Given the description of an element on the screen output the (x, y) to click on. 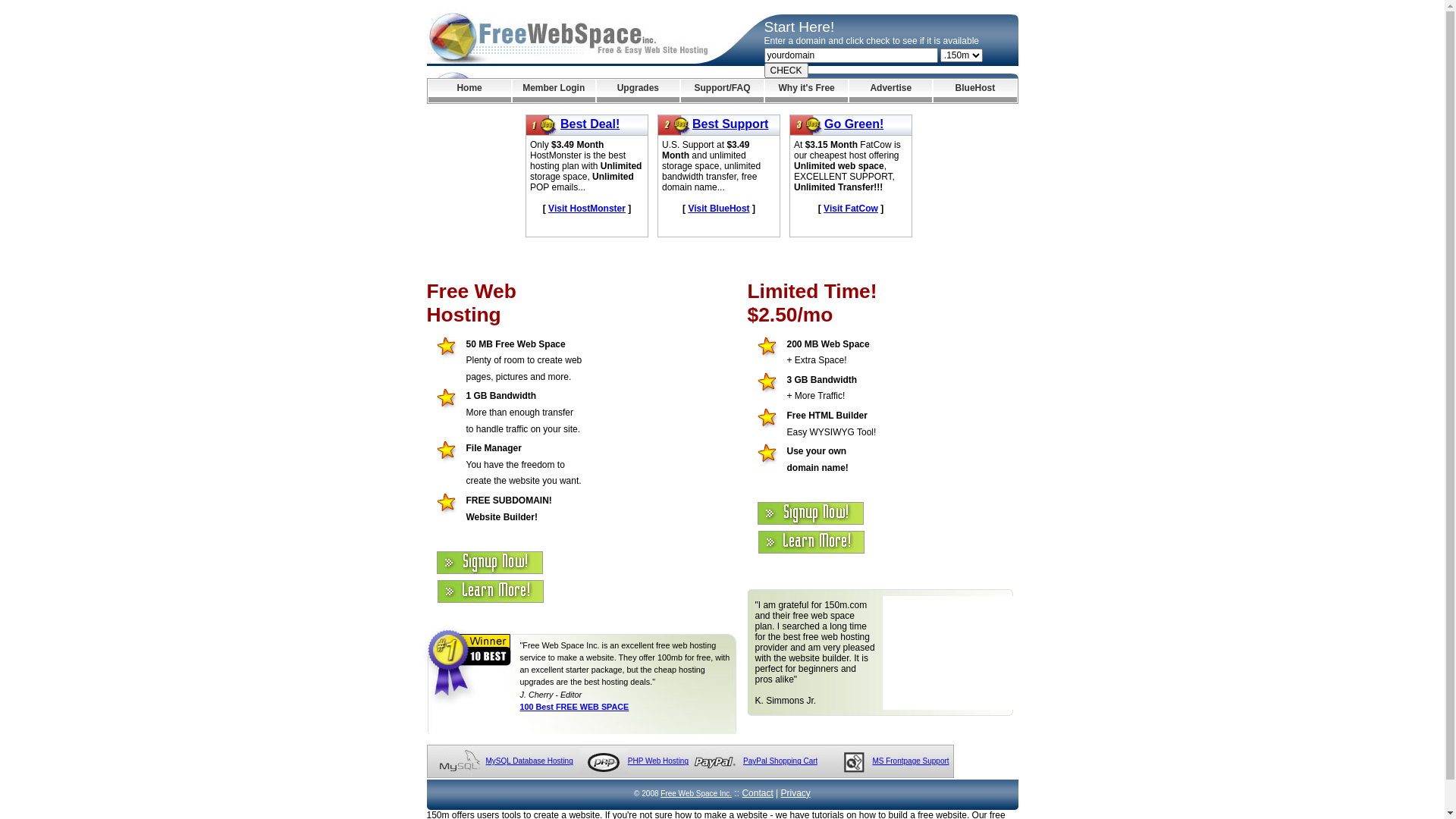
Home Element type: text (468, 90)
CHECK Element type: text (786, 70)
Contact Element type: text (756, 792)
100 Best FREE WEB SPACE Element type: text (574, 706)
Support/FAQ Element type: text (721, 90)
MS Frontpage Support Element type: text (910, 760)
Upgrades Element type: text (637, 90)
PayPal Shopping Cart Element type: text (780, 760)
Privacy Element type: text (795, 792)
Free Web Space Inc. Element type: text (695, 793)
BlueHost Element type: text (974, 90)
Why it's Free Element type: text (806, 90)
PHP Web Hosting Element type: text (657, 760)
Advertise Element type: text (890, 90)
Member Login Element type: text (553, 90)
MySQL Database Hosting Element type: text (528, 760)
